Given the description of an element on the screen output the (x, y) to click on. 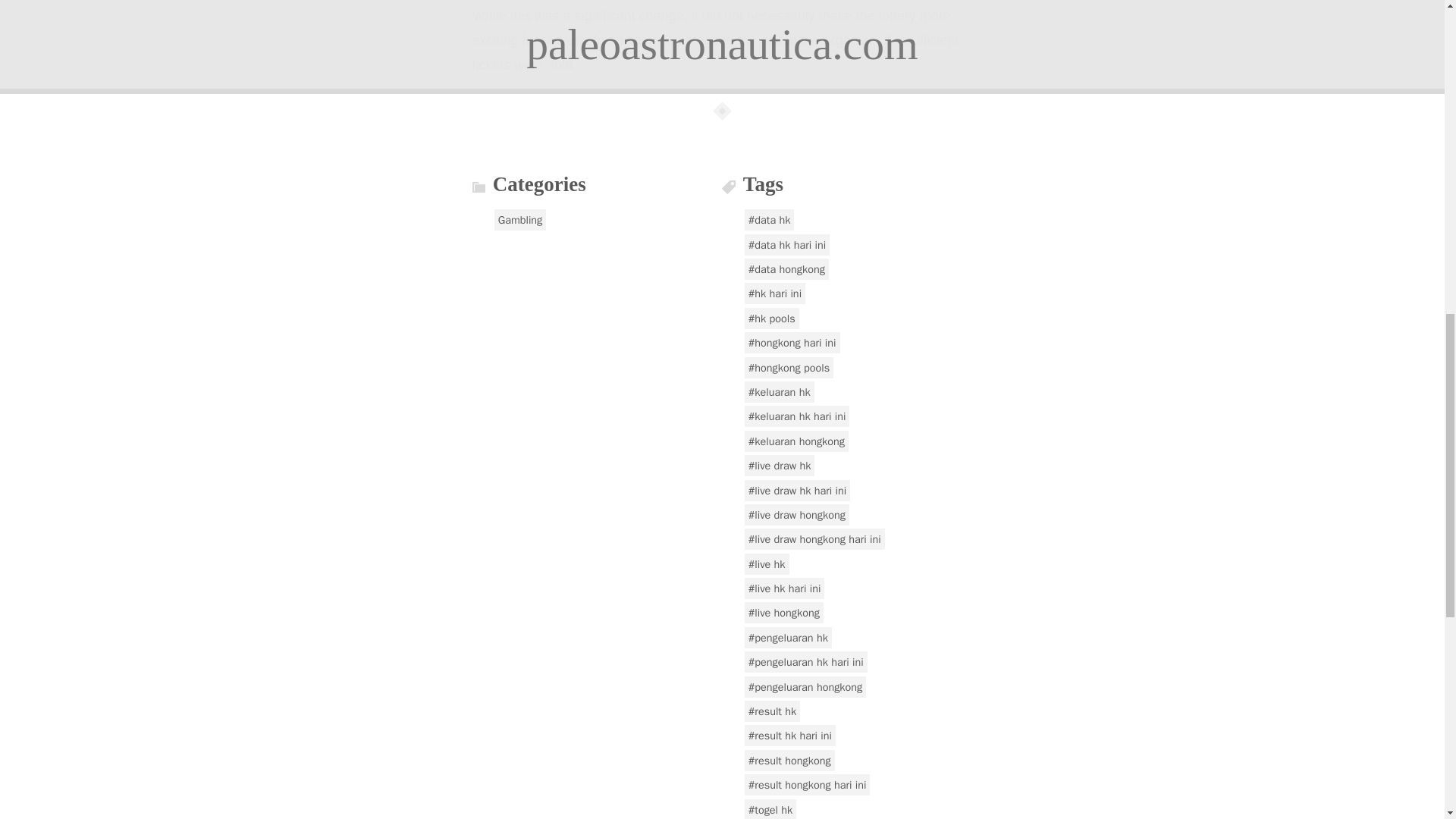
keluaran hongkong (796, 441)
data hongkong (786, 269)
togel hk (770, 809)
keluaran hk (778, 391)
live hk (766, 563)
live hk hari ini (784, 588)
live hongkong (784, 612)
result hongkong (789, 760)
pengeluaran hongkong (805, 686)
hongkong pools (789, 367)
